Given the description of an element on the screen output the (x, y) to click on. 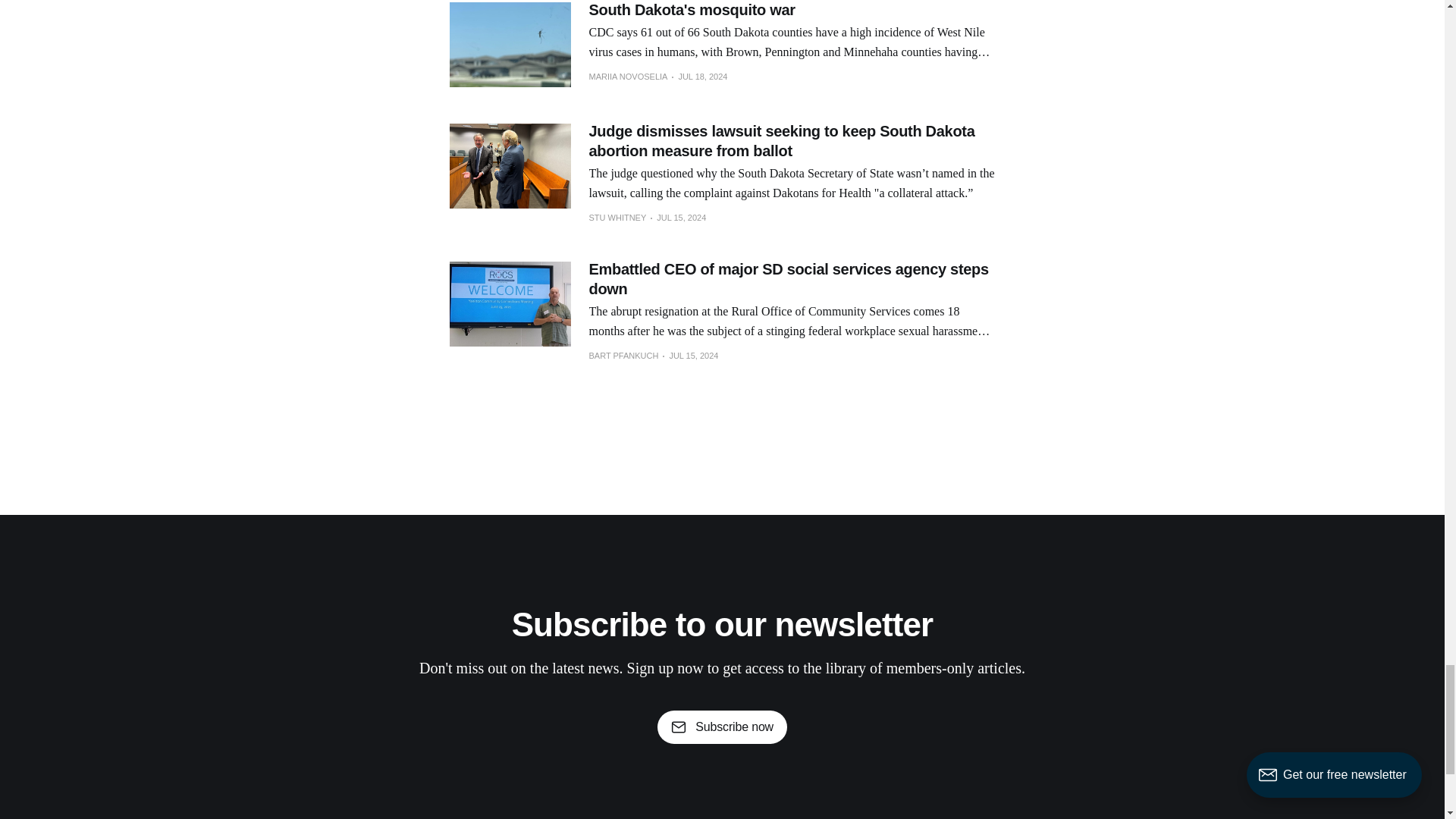
Subscribe now (722, 726)
